Given the description of an element on the screen output the (x, y) to click on. 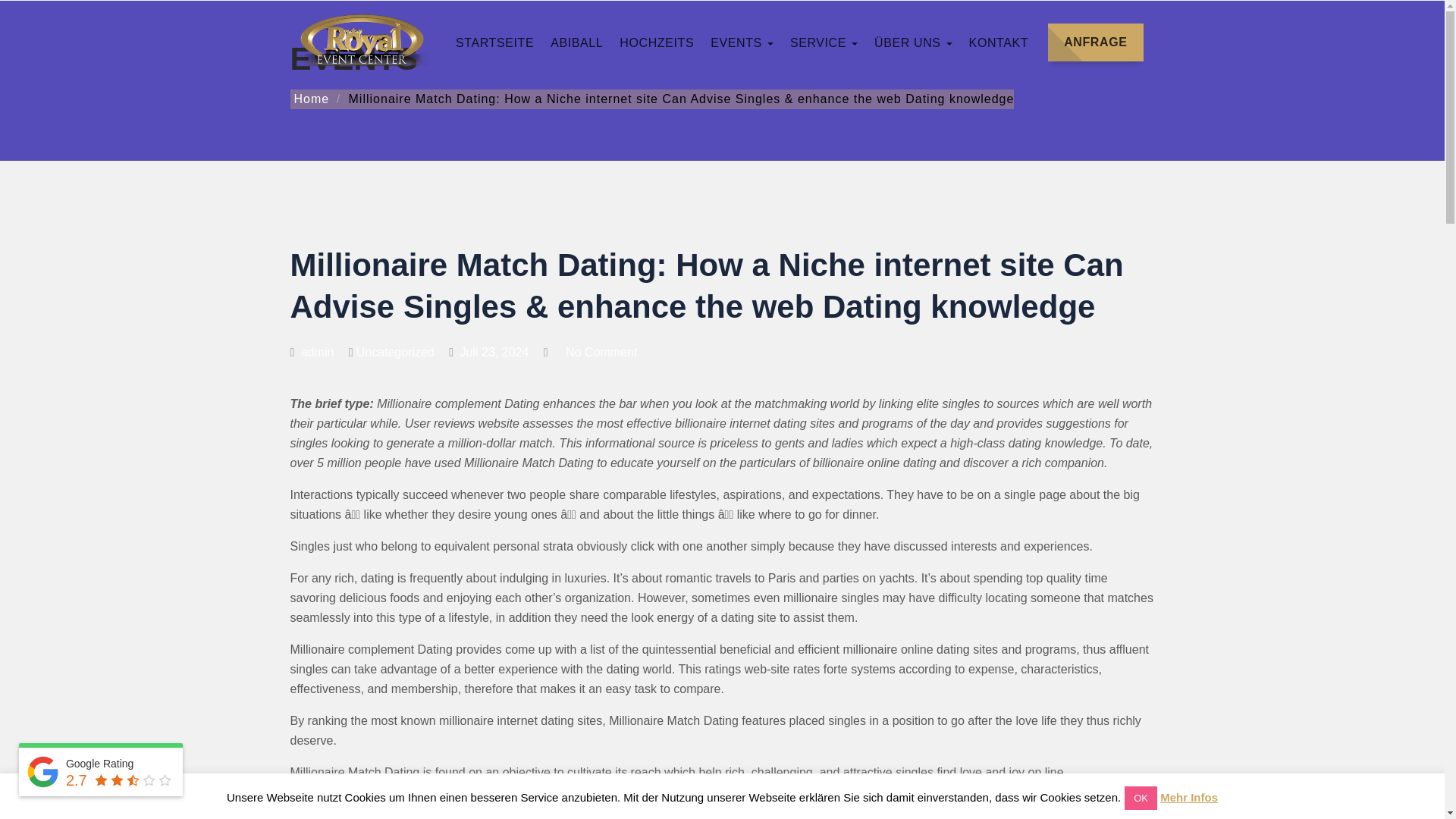
SERVICE (823, 42)
Home (309, 98)
SERVICE (1026, 42)
Juli 23, 2024 (488, 351)
Uncategorized (394, 351)
admin (311, 351)
KONTAKT (998, 42)
ANFRAGE (1095, 41)
No Comment (601, 351)
STARTSEITE (1016, 42)
EVENTS (741, 42)
EVENTS (1118, 42)
HOCHZEITS (1062, 42)
ABIBALL (1040, 42)
